Given the description of an element on the screen output the (x, y) to click on. 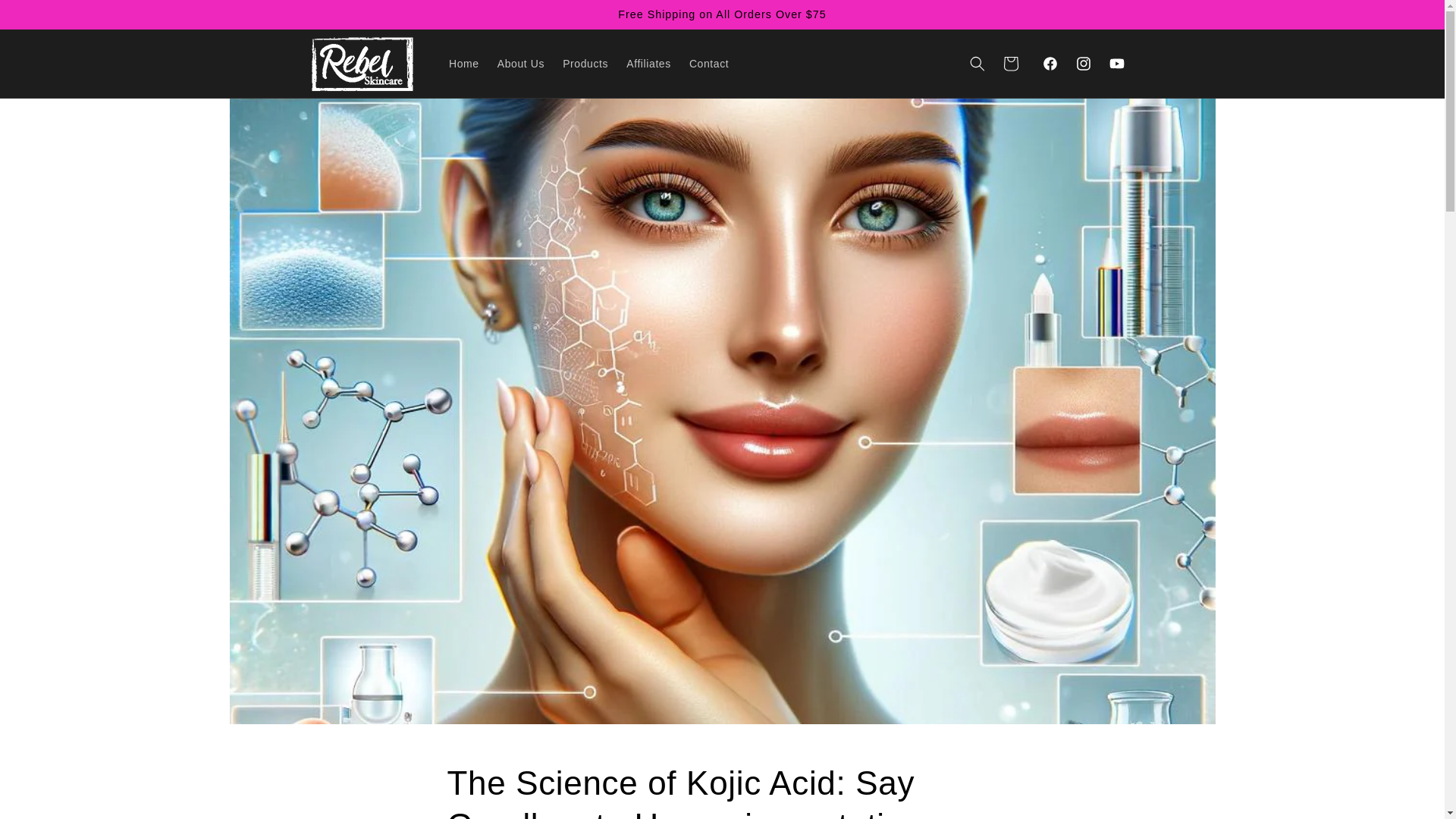
Facebook (1048, 63)
Affiliates (648, 63)
Contact (708, 63)
YouTube (1115, 63)
Skip to content (45, 17)
About Us (520, 63)
Home (463, 63)
Products (585, 63)
Instagram (1082, 63)
